Given the description of an element on the screen output the (x, y) to click on. 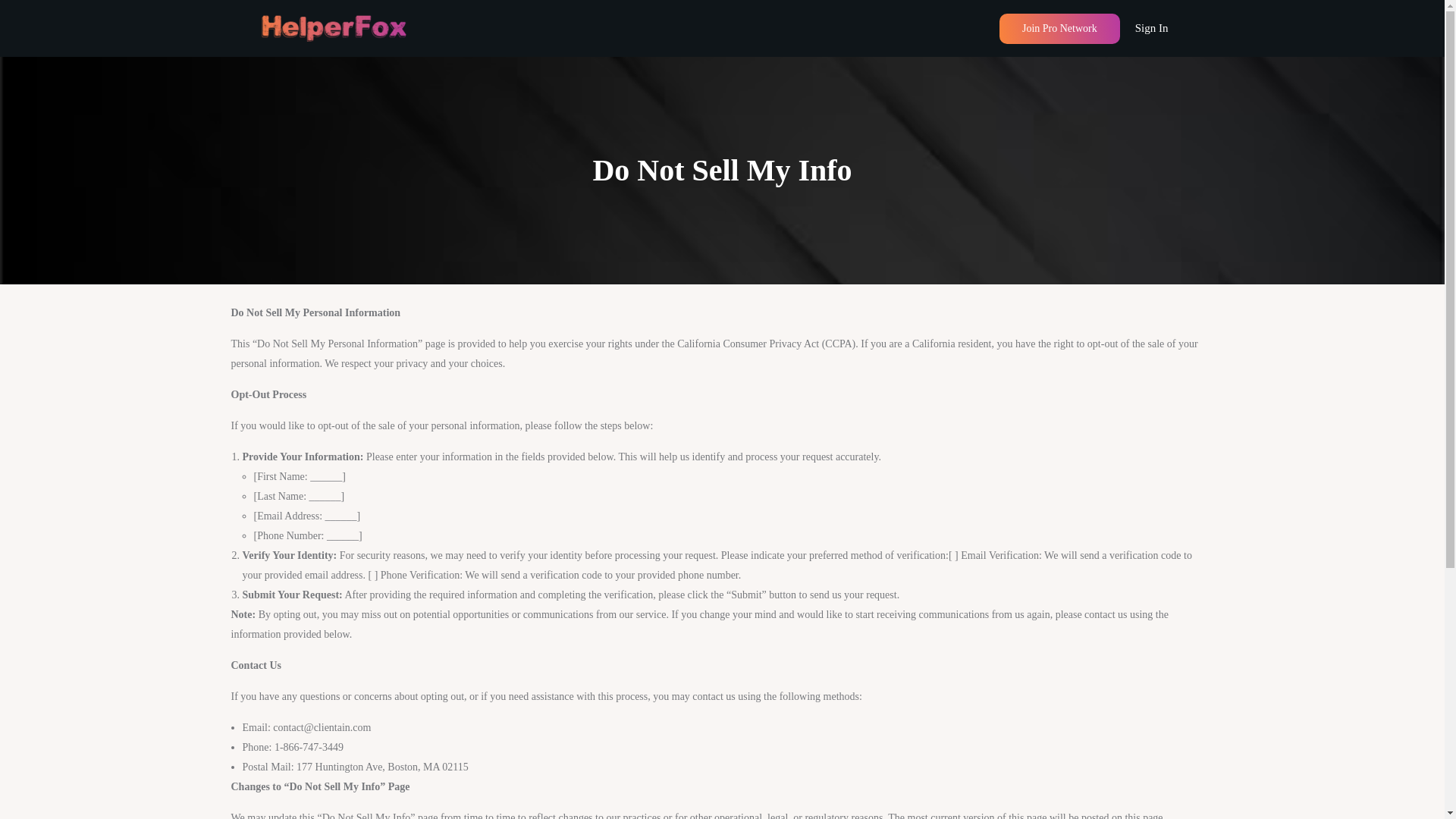
Sign In (1152, 28)
Join Pro Network (1058, 28)
